Given the description of an element on the screen output the (x, y) to click on. 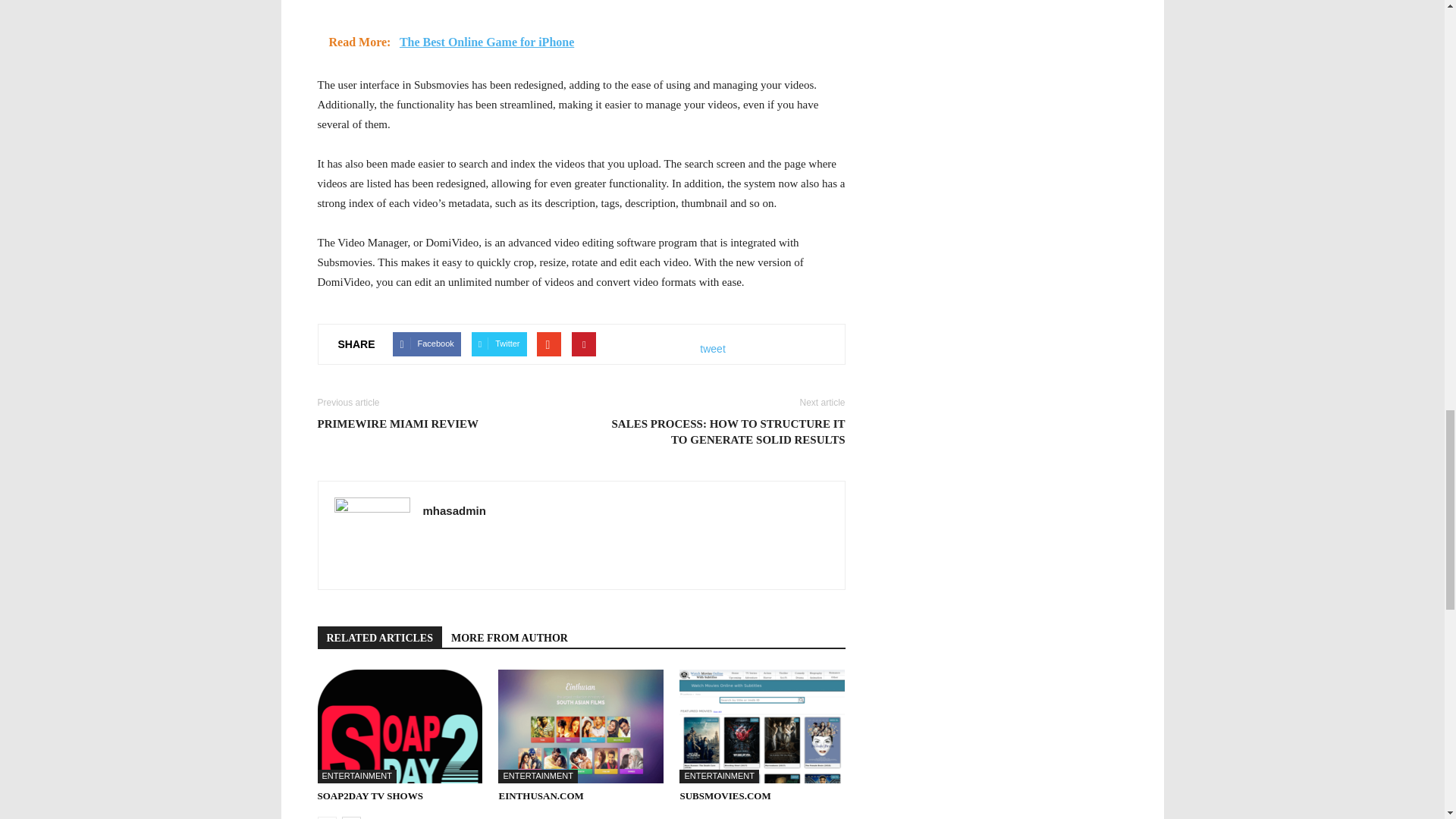
Soap2Day TV Shows (399, 725)
SubSmovies.com (761, 725)
Einthusan.com (540, 795)
Soap2Day TV Shows (369, 795)
SubSmovies.com (724, 795)
Einthusan.com (580, 725)
